Given the description of an element on the screen output the (x, y) to click on. 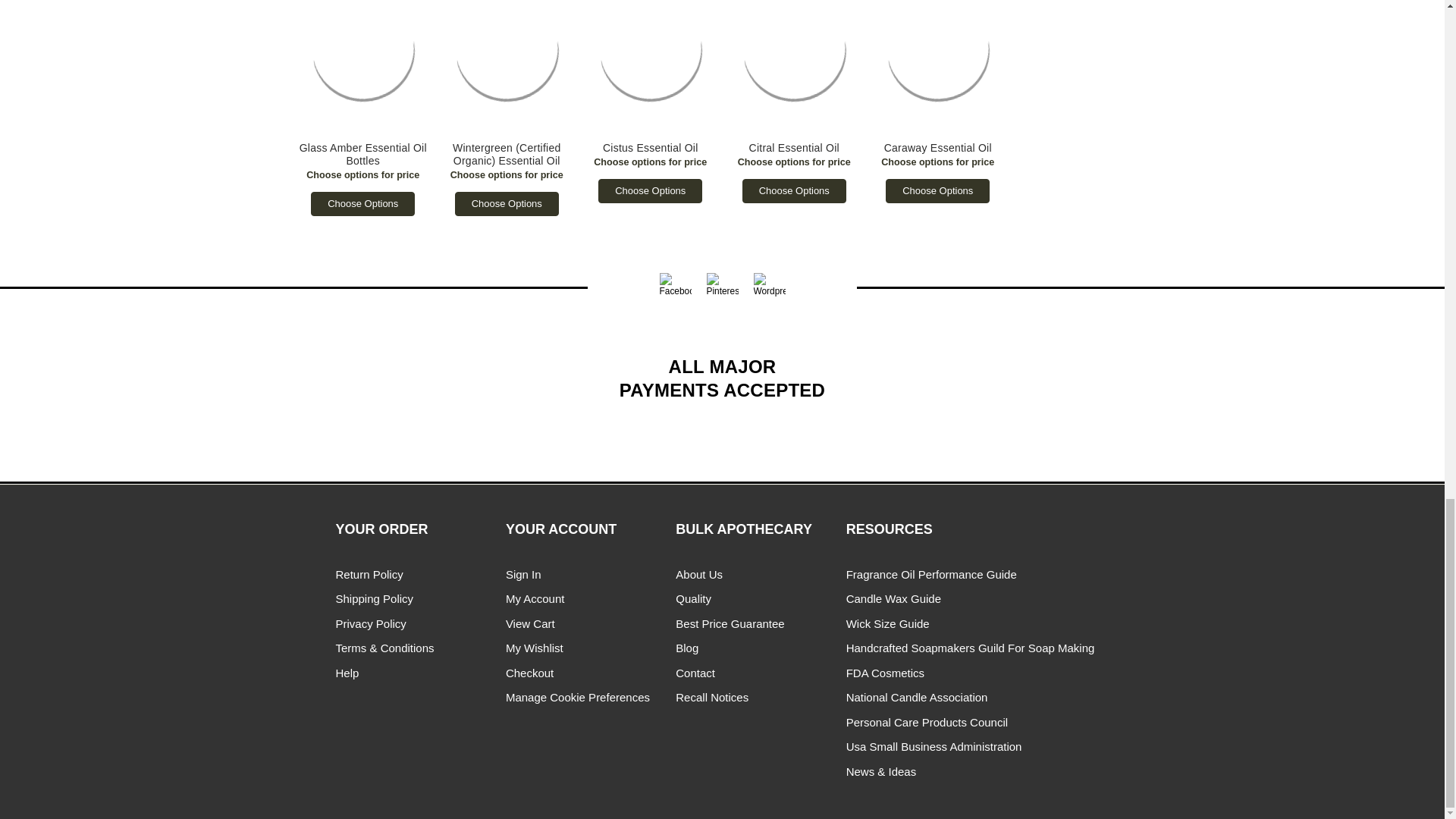
Manage Cookie Preferences (577, 697)
Certified Organic Wintergreen Essential Oil (506, 66)
Citral Essential Oil (794, 66)
Cistus Essential Oil (650, 66)
View Cart (529, 623)
My Wishlist (534, 647)
Sign In (523, 574)
Caraway Essential Oil (937, 66)
My Account (534, 598)
Checkout (529, 672)
Glass Amber Bottles (362, 66)
